Given the description of an element on the screen output the (x, y) to click on. 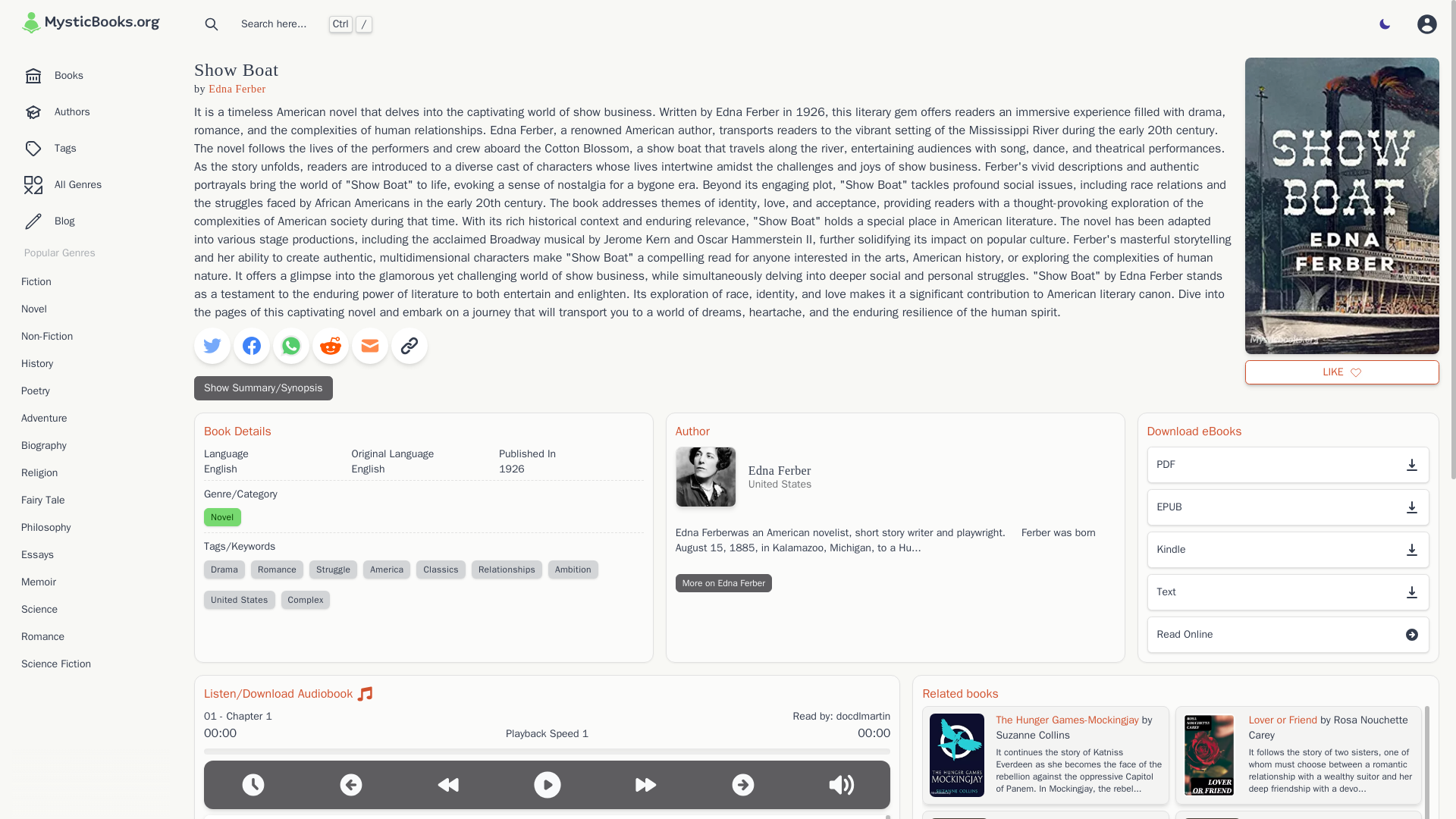
Previous Audio (351, 784)
Romance (276, 569)
Forward 5 seconds (645, 784)
Philosophy (90, 527)
Show Boat Epub (1288, 506)
Essays (90, 554)
Fiction (90, 282)
Religion (90, 473)
Struggle (332, 569)
Science Fiction (90, 663)
